Given the description of an element on the screen output the (x, y) to click on. 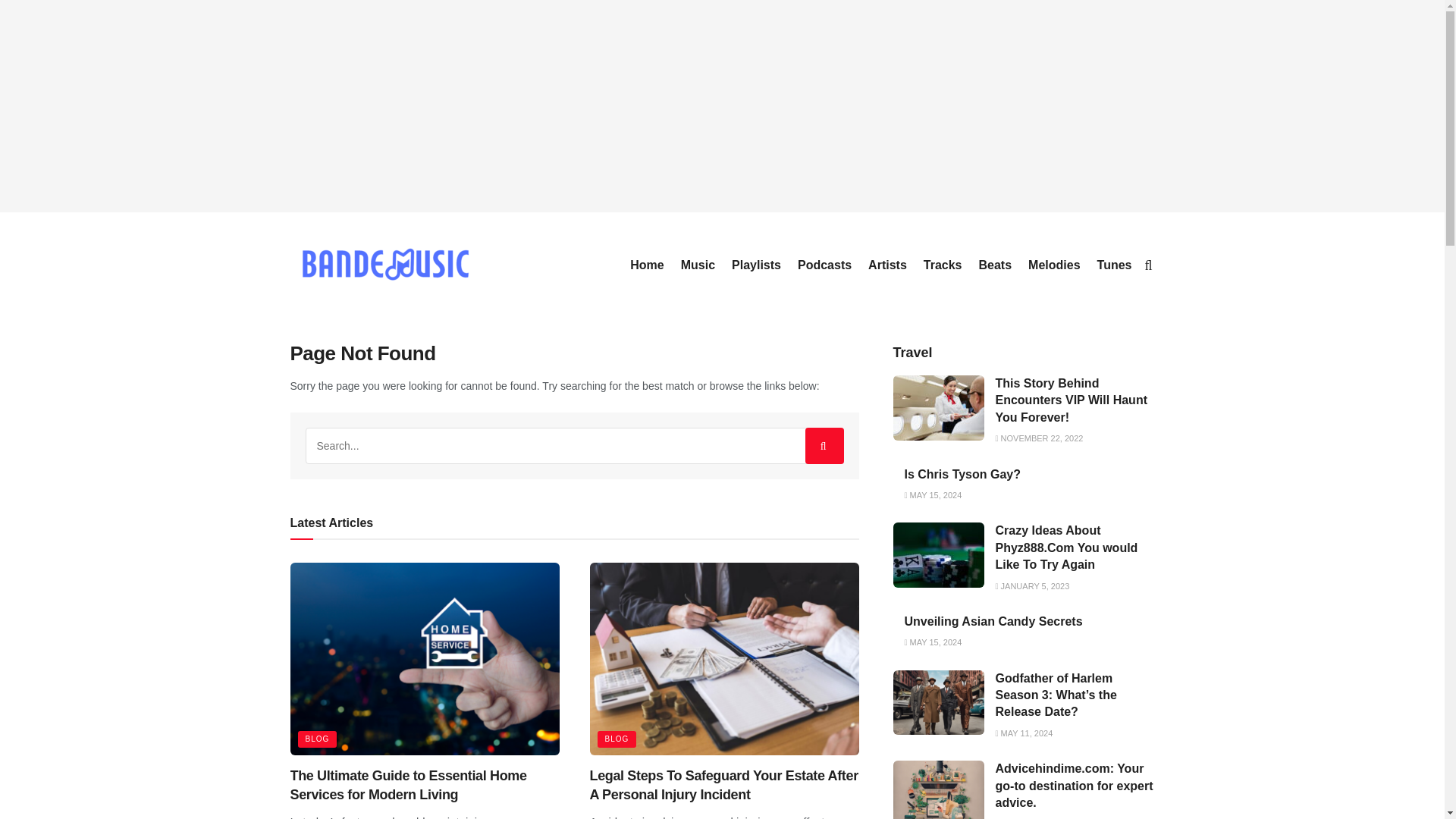
Music (697, 265)
BLOG (316, 739)
Melodies (1053, 265)
BLOG (616, 739)
Tracks (942, 265)
Podcasts (824, 265)
Tunes (1114, 265)
Artists (887, 265)
Playlists (756, 265)
